Given the description of an element on the screen output the (x, y) to click on. 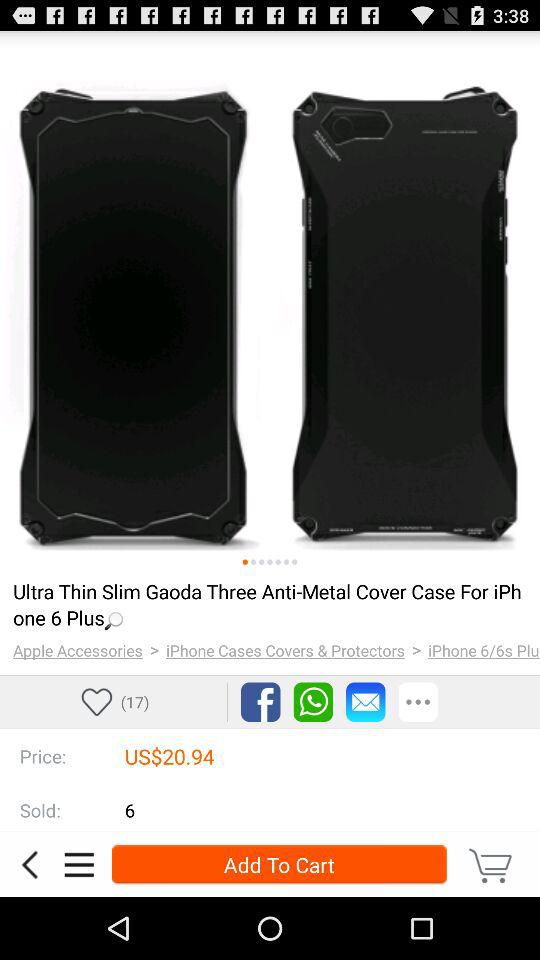
flip to apple accessories icon (77, 650)
